Given the description of an element on the screen output the (x, y) to click on. 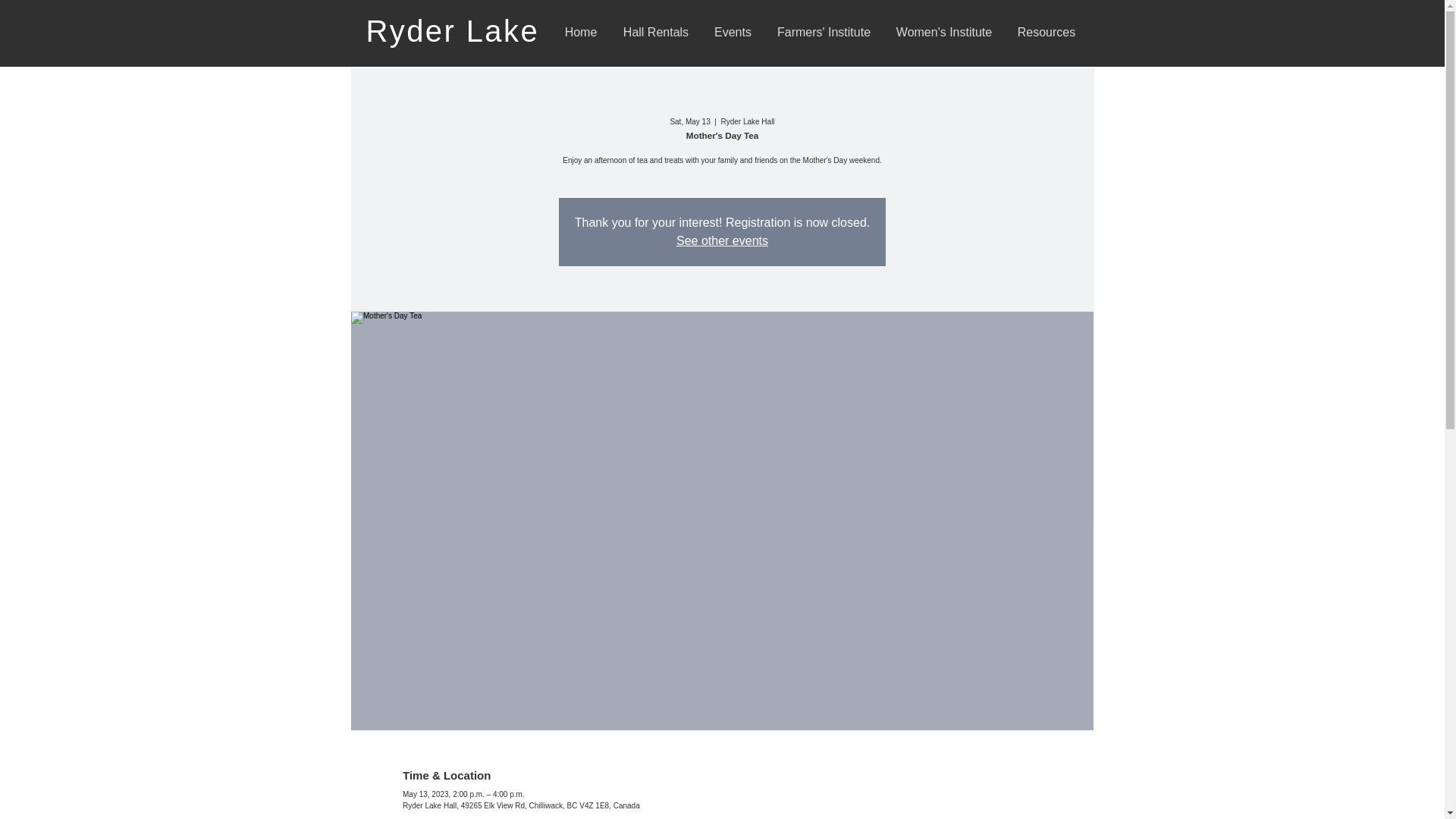
Events (732, 31)
Ryder Lake  (456, 30)
See other events (722, 240)
Resources (1046, 31)
Home (580, 31)
Farmers' Institute (823, 31)
Hall Rentals (656, 31)
Women's Institute (943, 31)
